Given the description of an element on the screen output the (x, y) to click on. 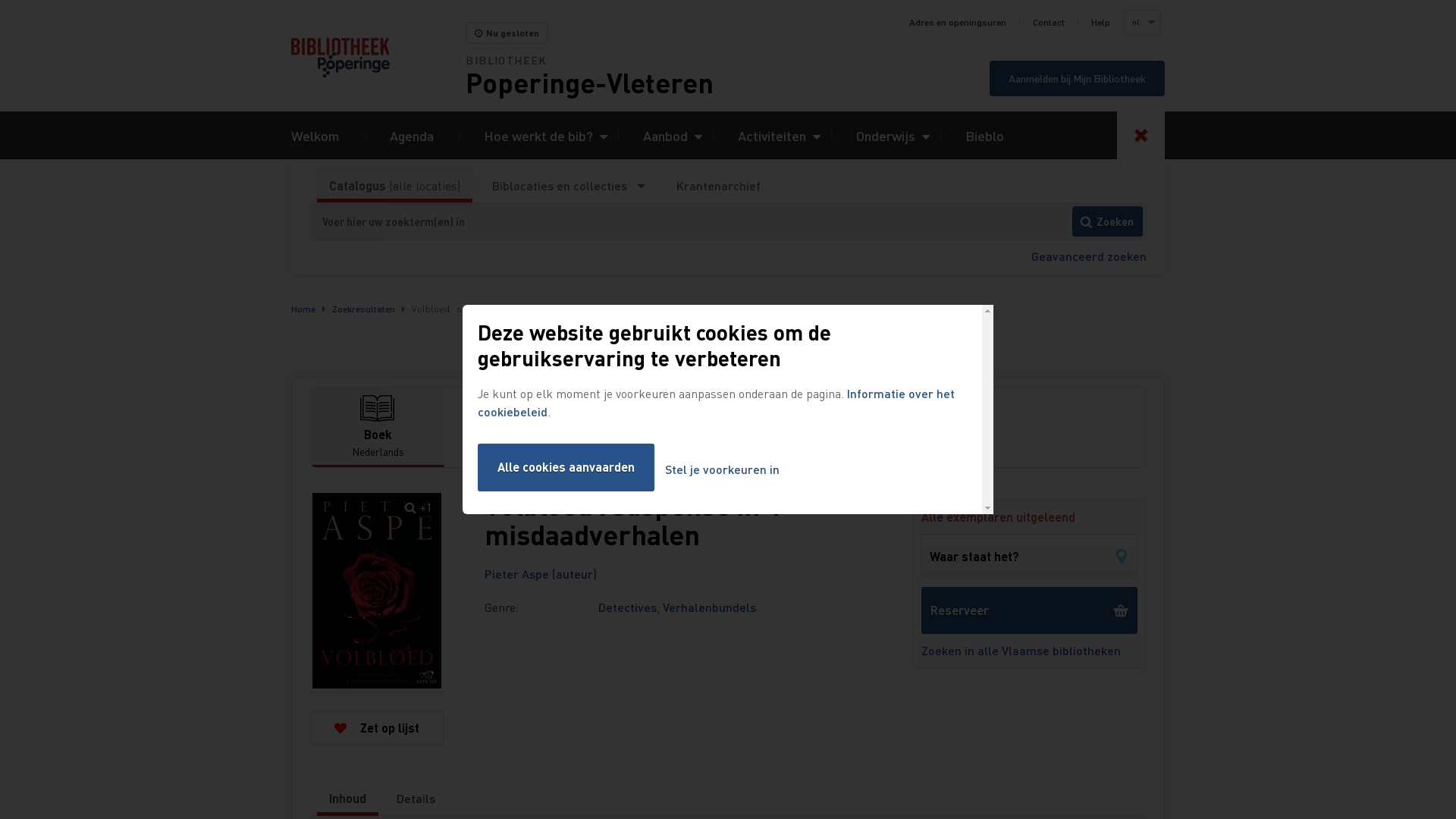
Overslaan en naar zoeken gaan Element type: text (0, 0)
Inhoud Element type: text (347, 798)
Welkom Element type: text (315, 135)
Krantenarchief Element type: text (718, 185)
Aanmelden bij Mijn Bibliotheek Element type: text (1076, 78)
Zet op lijst Element type: text (376, 727)
Biblocaties en collecties Element type: text (567, 185)
Pieter Aspe (auteur) Element type: text (540, 573)
Agenda Element type: text (411, 135)
Geavanceerd zoeken Element type: text (1088, 255)
Stel je voorkeuren in Element type: text (722, 469)
Zoeken in alle Vlaamse bibliotheken Element type: text (1029, 650)
Verhalenbundels Element type: text (709, 607)
Zoekresultaten Element type: text (363, 308)
Detectives Element type: text (627, 607)
Bieblo Element type: text (984, 135)
Nu gesloten Element type: text (506, 32)
Alle cookies aanvaarden Element type: text (565, 466)
Home Element type: text (303, 308)
Details Element type: text (415, 798)
Informatie over het cookiebeleid Element type: text (715, 402)
Toggle search Element type: hover (1140, 135)
Help Element type: text (1100, 22)
Home Element type: hover (378, 57)
Adres en openingsuren Element type: text (957, 22)
Waar staat het? Element type: text (1029, 556)
Contact Element type: text (1048, 22)
Zoeken Element type: text (1107, 221)
Catalogus (alle locaties) Element type: text (394, 185)
Reserveer Element type: text (1029, 609)
nl Element type: text (1140, 22)
